Given the description of an element on the screen output the (x, y) to click on. 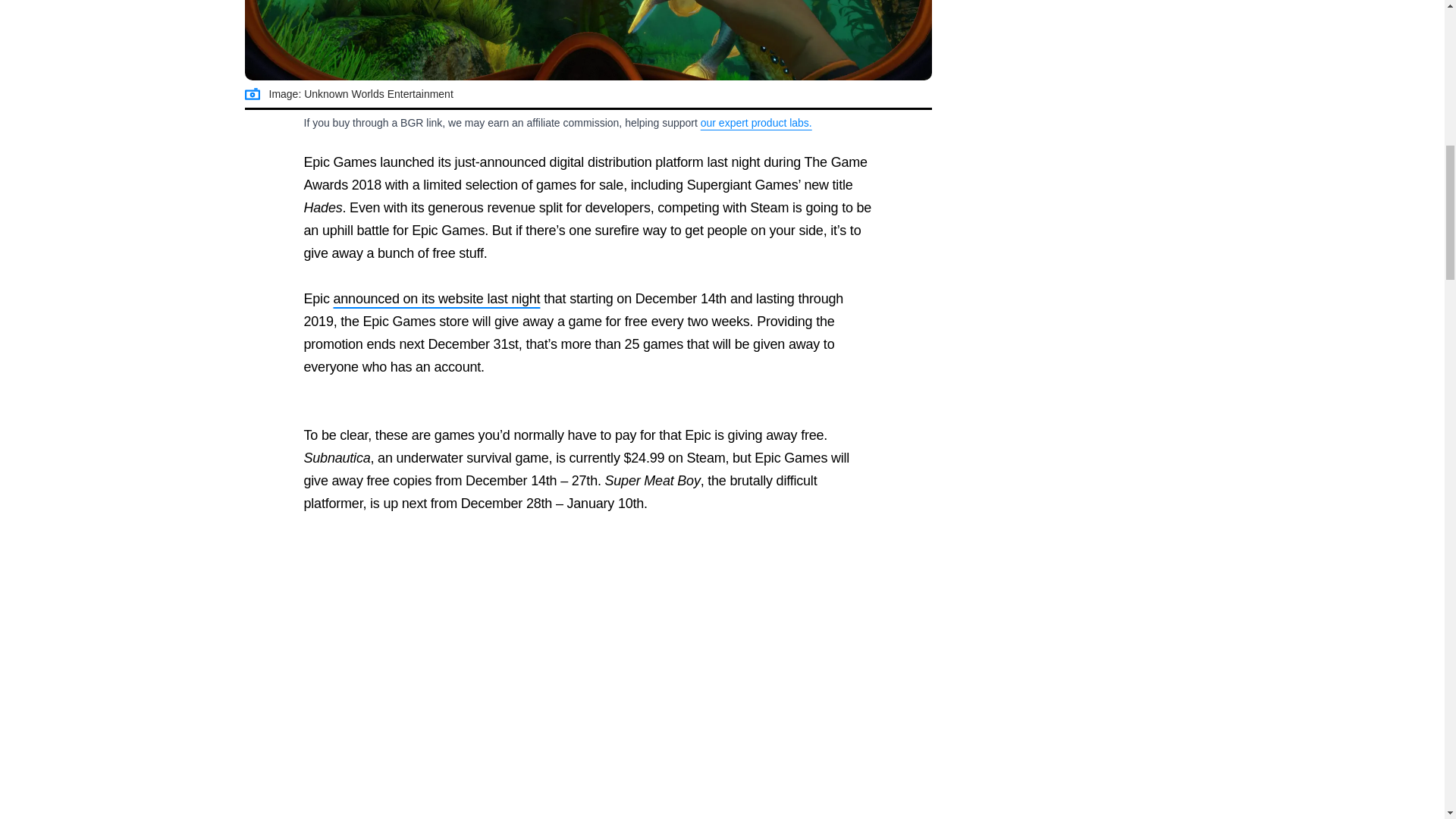
Epic Games store: Free games (587, 40)
